Given the description of an element on the screen output the (x, y) to click on. 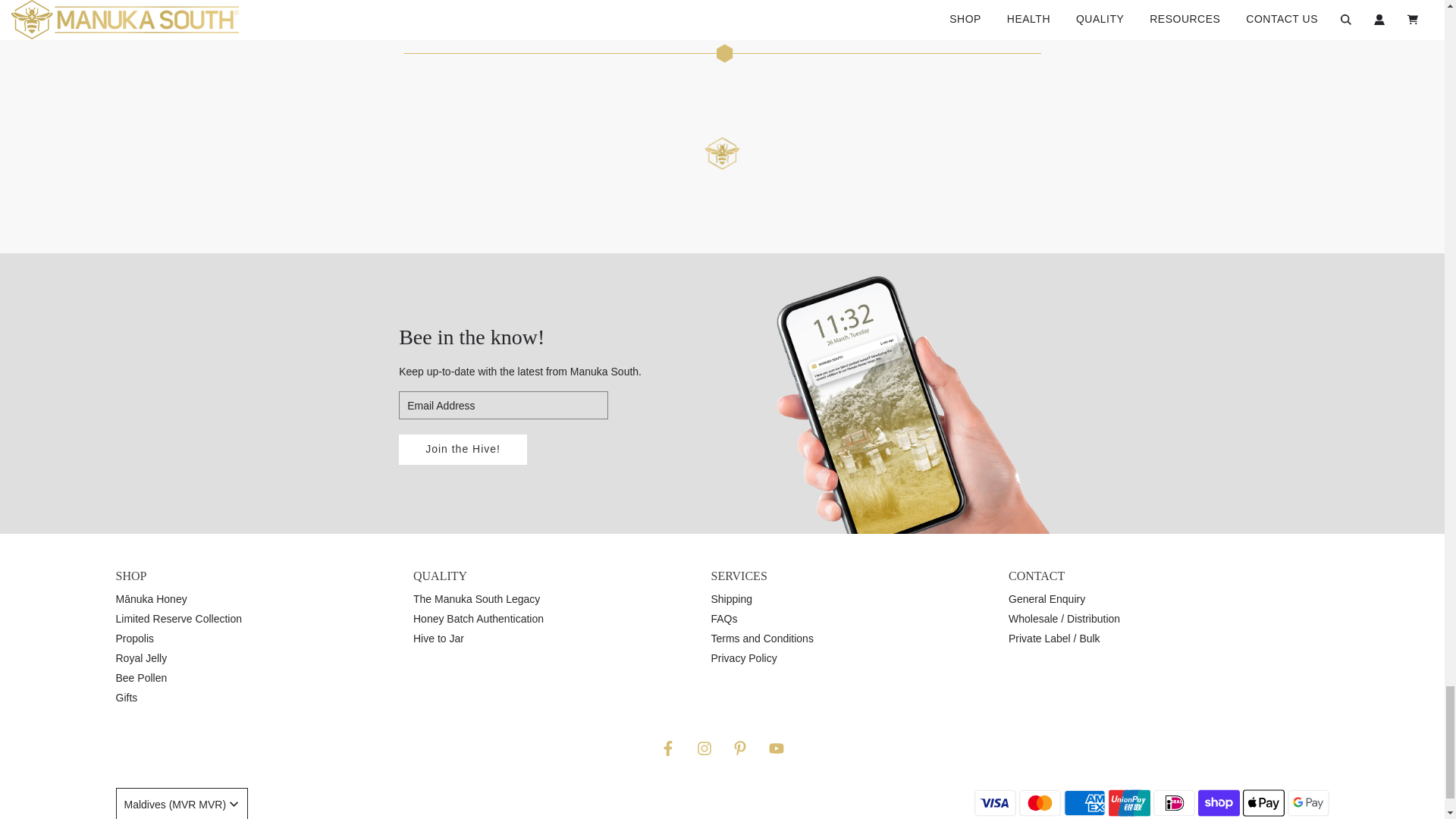
iDEAL (1173, 802)
Union Pay (1129, 802)
Mastercard (1040, 802)
Apple Pay (1262, 802)
Shop Pay (1219, 802)
American Express (1083, 802)
Google Pay (1308, 802)
Visa (994, 802)
